Given the description of an element on the screen output the (x, y) to click on. 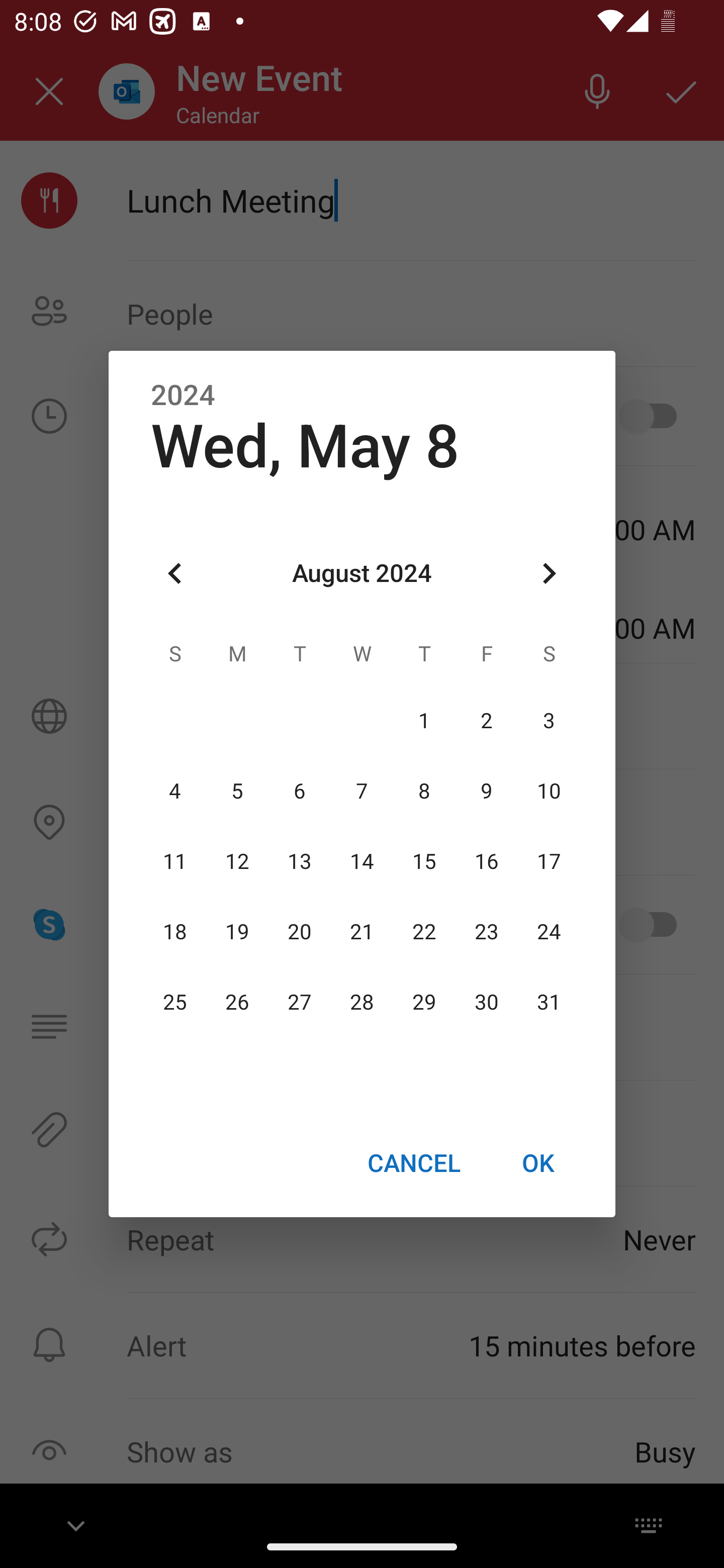
2024 (182, 395)
Wed, May 8 (304, 446)
Previous month (174, 573)
Next month (548, 573)
1 01 August 2024 (424, 720)
2 02 August 2024 (486, 720)
3 03 August 2024 (548, 720)
4 04 August 2024 (175, 790)
5 05 August 2024 (237, 790)
6 06 August 2024 (299, 790)
7 07 August 2024 (361, 790)
8 08 August 2024 (424, 790)
9 09 August 2024 (486, 790)
10 10 August 2024 (548, 790)
11 11 August 2024 (175, 861)
12 12 August 2024 (237, 861)
13 13 August 2024 (299, 861)
14 14 August 2024 (361, 861)
15 15 August 2024 (424, 861)
16 16 August 2024 (486, 861)
